Given the description of an element on the screen output the (x, y) to click on. 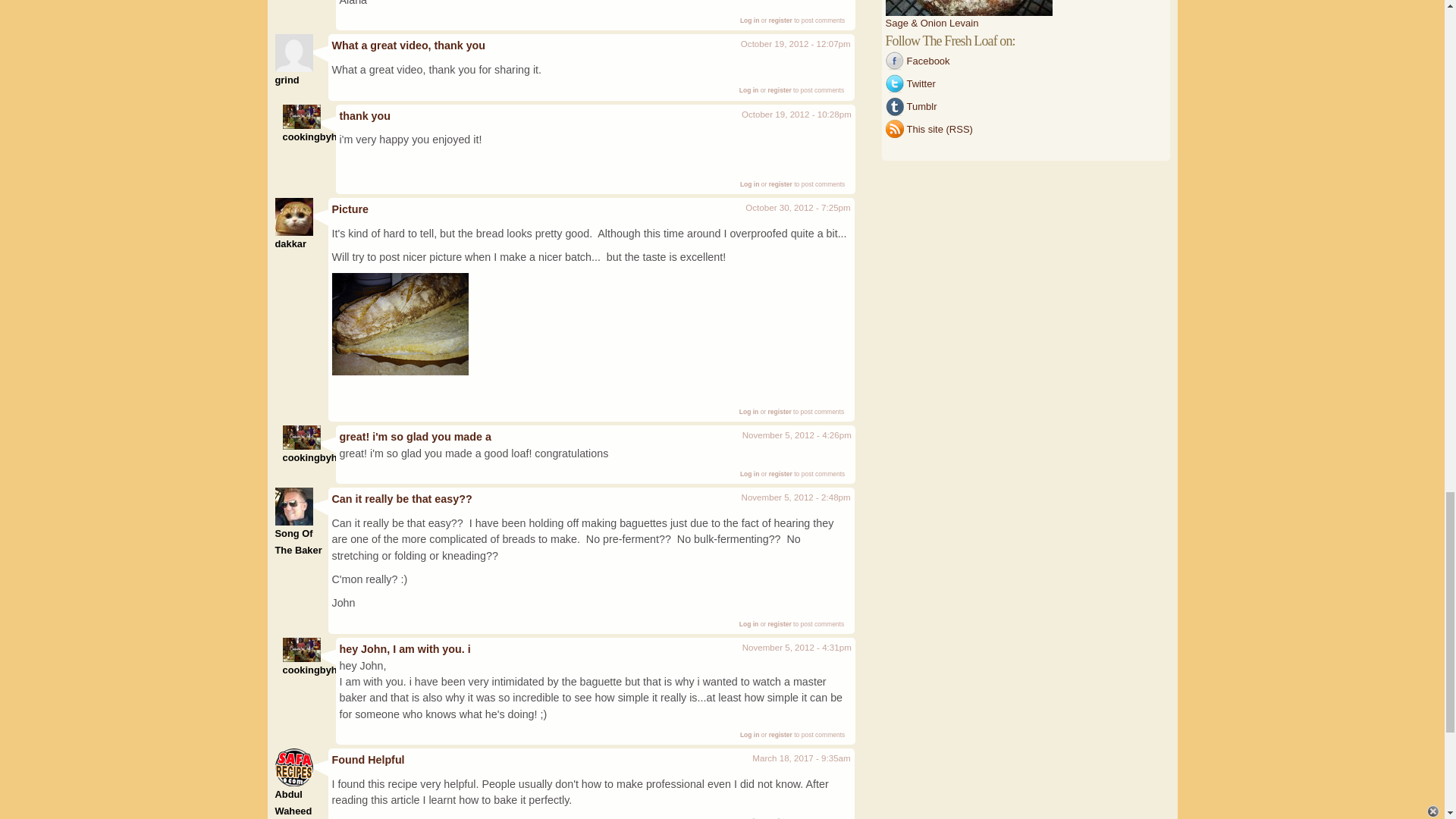
register (780, 90)
Log in (748, 90)
What a great video, thank you (408, 45)
register (780, 20)
cookingbyheart's picture (301, 116)
grind's picture (294, 53)
thank you (365, 115)
Log in (749, 20)
